Given the description of an element on the screen output the (x, y) to click on. 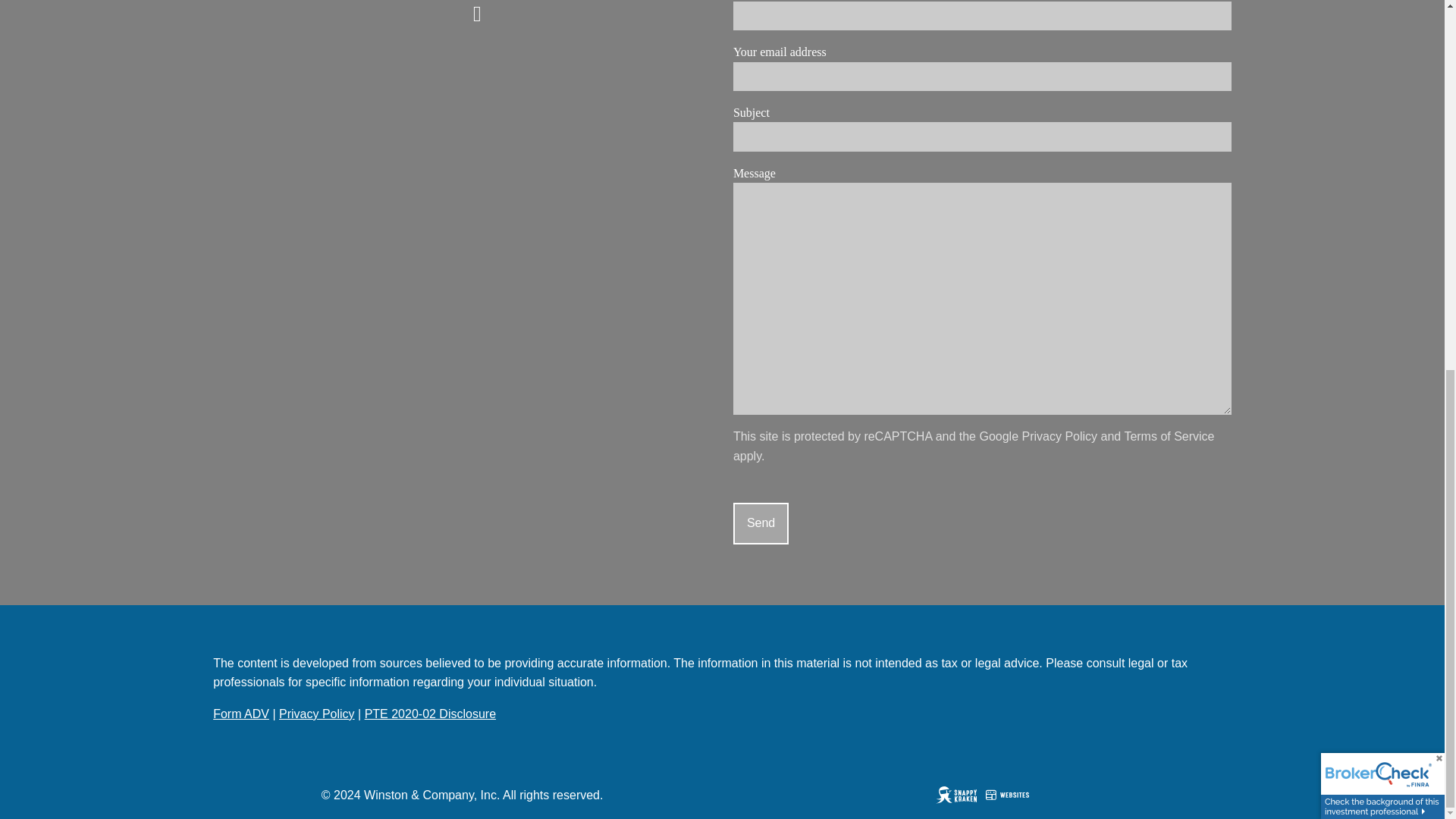
PTE Disclosure (430, 713)
Form ADV (240, 713)
Privacy Policy (317, 713)
Privacy Policy (317, 713)
Terms of Service (1169, 436)
PTE 2020-02 Disclosure (430, 713)
Send (761, 523)
Send (761, 523)
Privacy Policy (1059, 436)
